Given the description of an element on the screen output the (x, y) to click on. 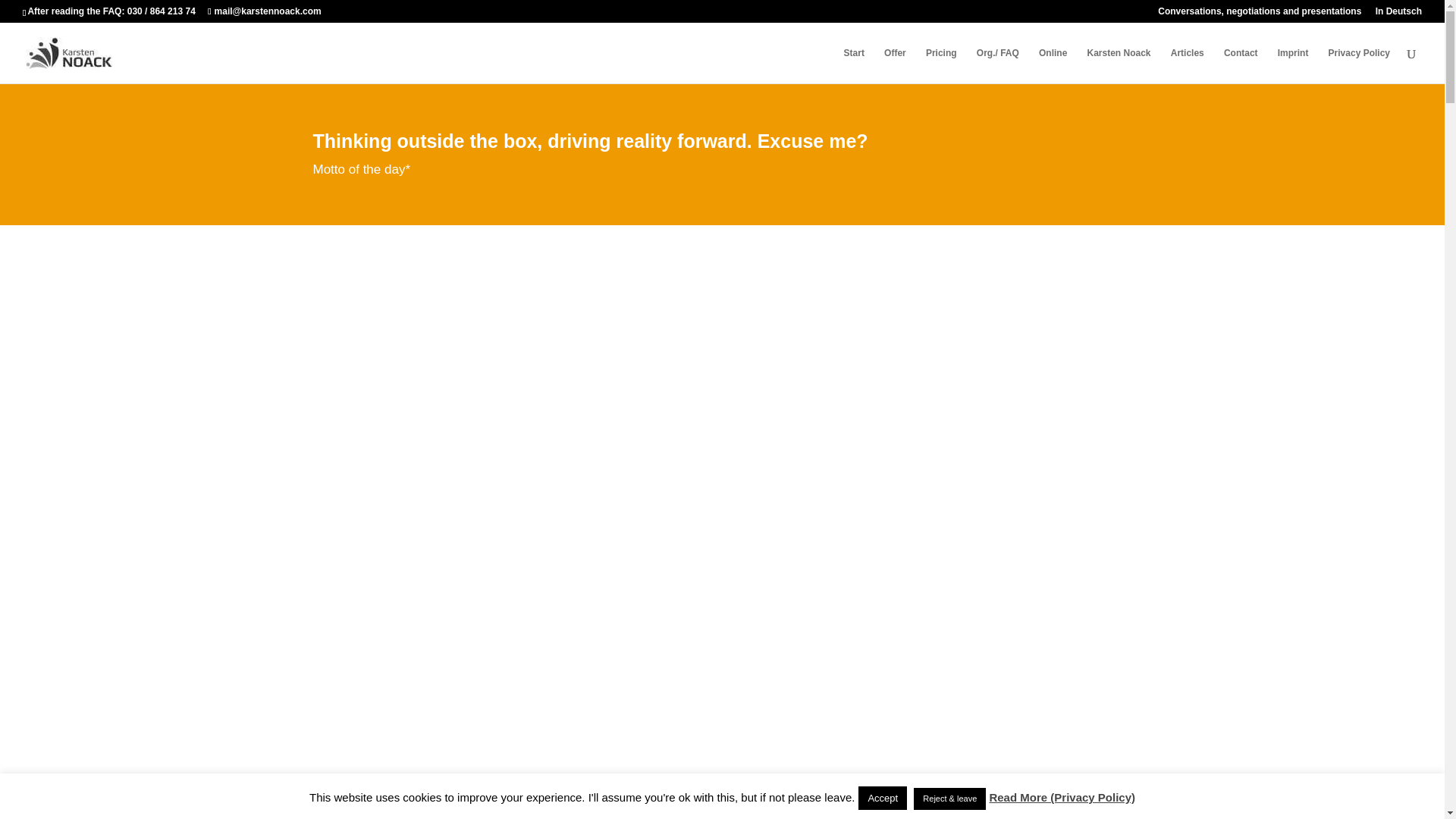
Conversations, negotiations and presentations (1259, 14)
Privacy Policy (1358, 65)
Contact (1240, 65)
Blog articles (1187, 65)
Contact (1240, 65)
Organizational details (997, 65)
In Deutsch (1398, 14)
Articles (1187, 65)
Privacy Policy (1358, 65)
In Deutsch (1398, 14)
Karsten Noack (1119, 65)
